Given the description of an element on the screen output the (x, y) to click on. 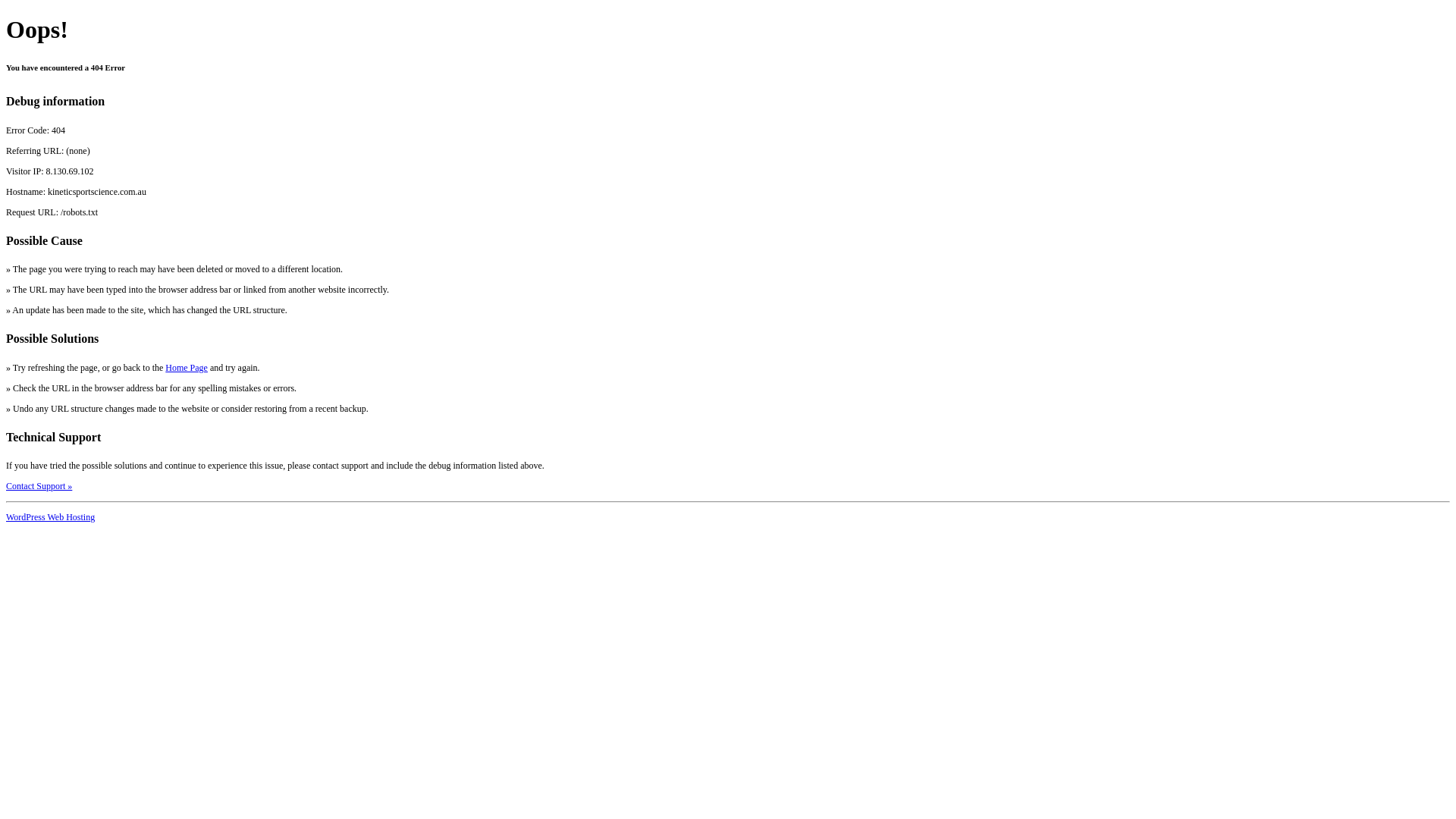
Home Page Element type: text (186, 367)
WordPress Web Hosting Element type: text (50, 516)
